Given the description of an element on the screen output the (x, y) to click on. 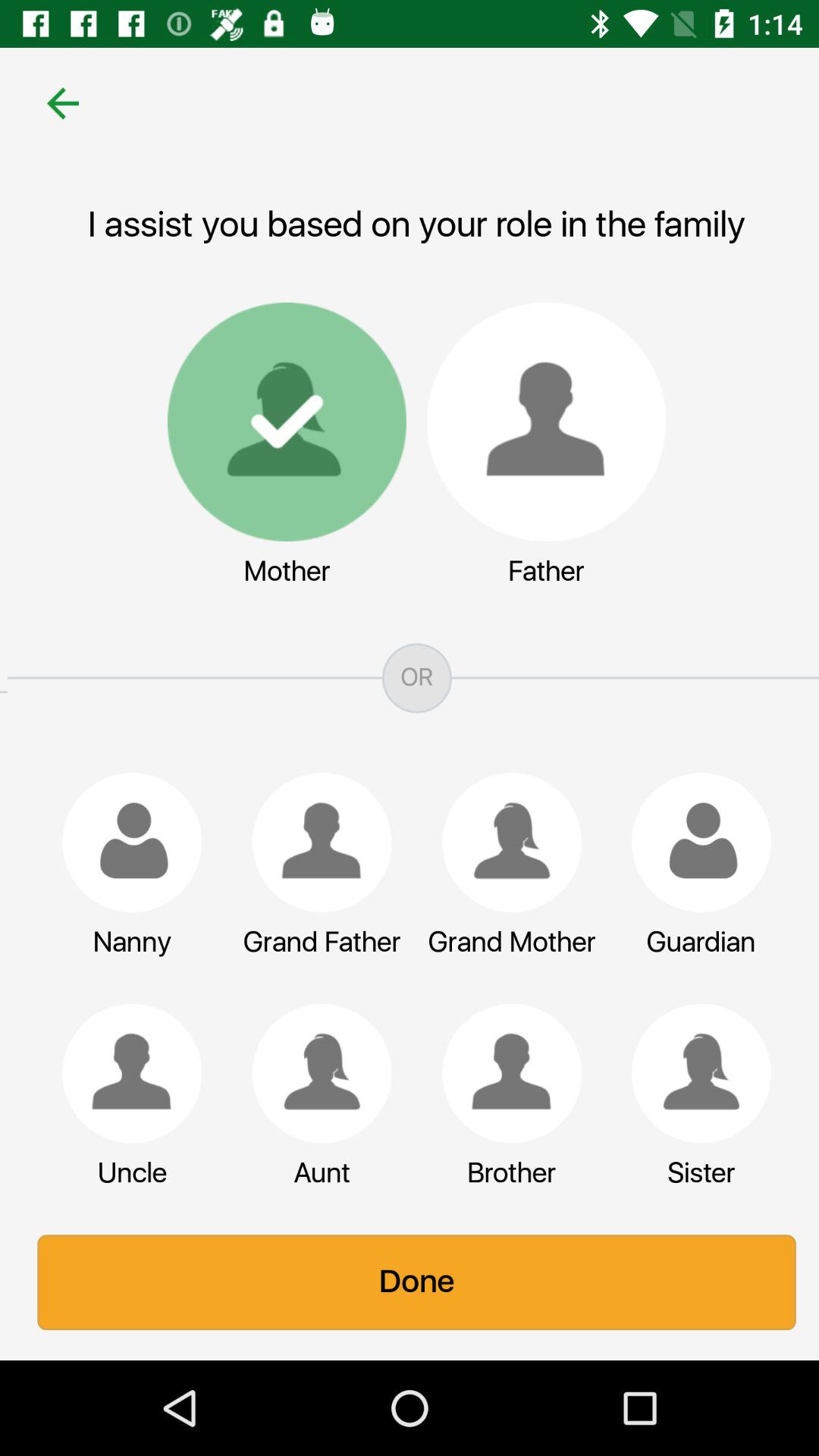
click the icon below grand father icon (314, 1073)
